Given the description of an element on the screen output the (x, y) to click on. 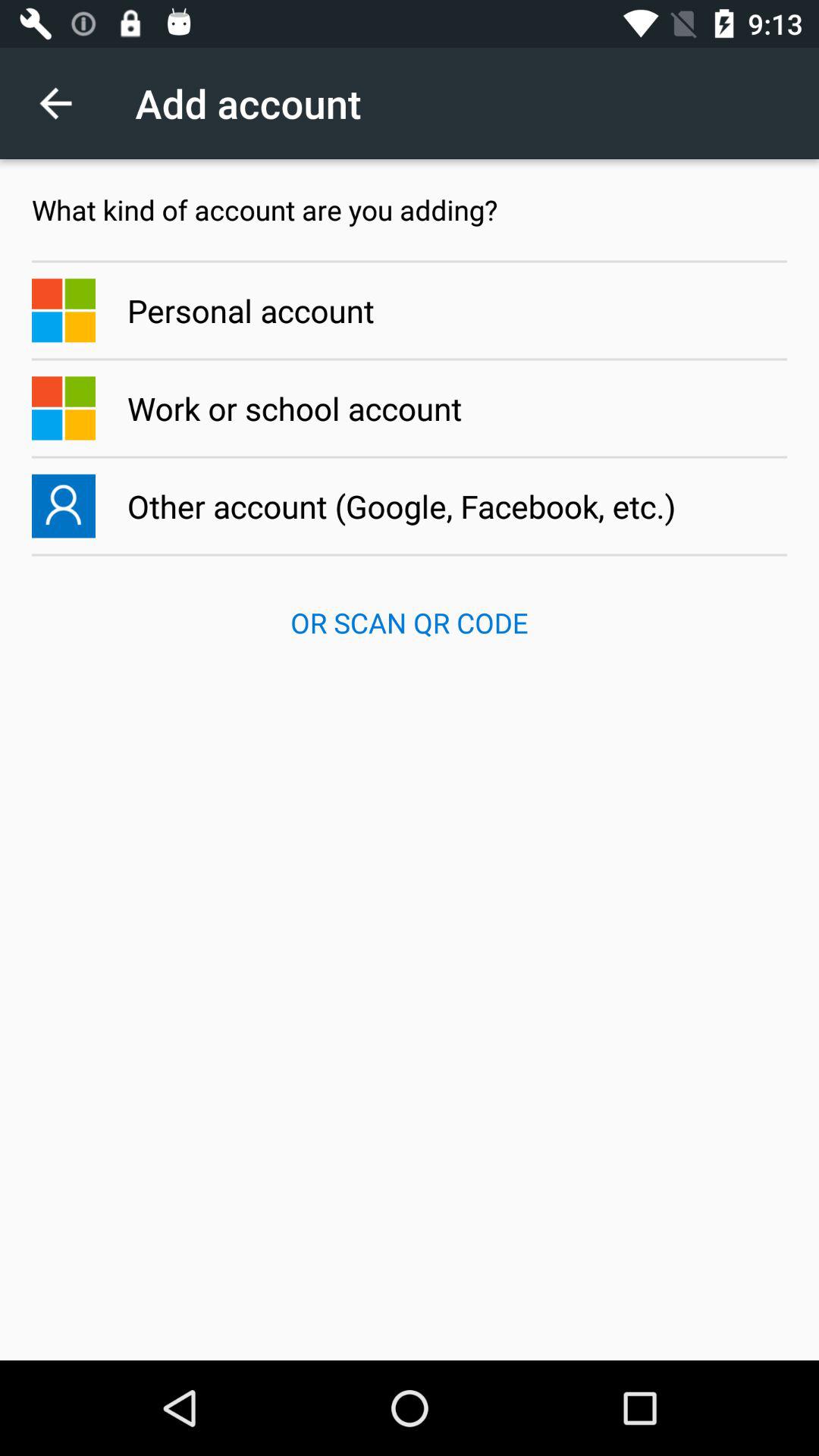
select item to the left of add account (63, 103)
